Given the description of an element on the screen output the (x, y) to click on. 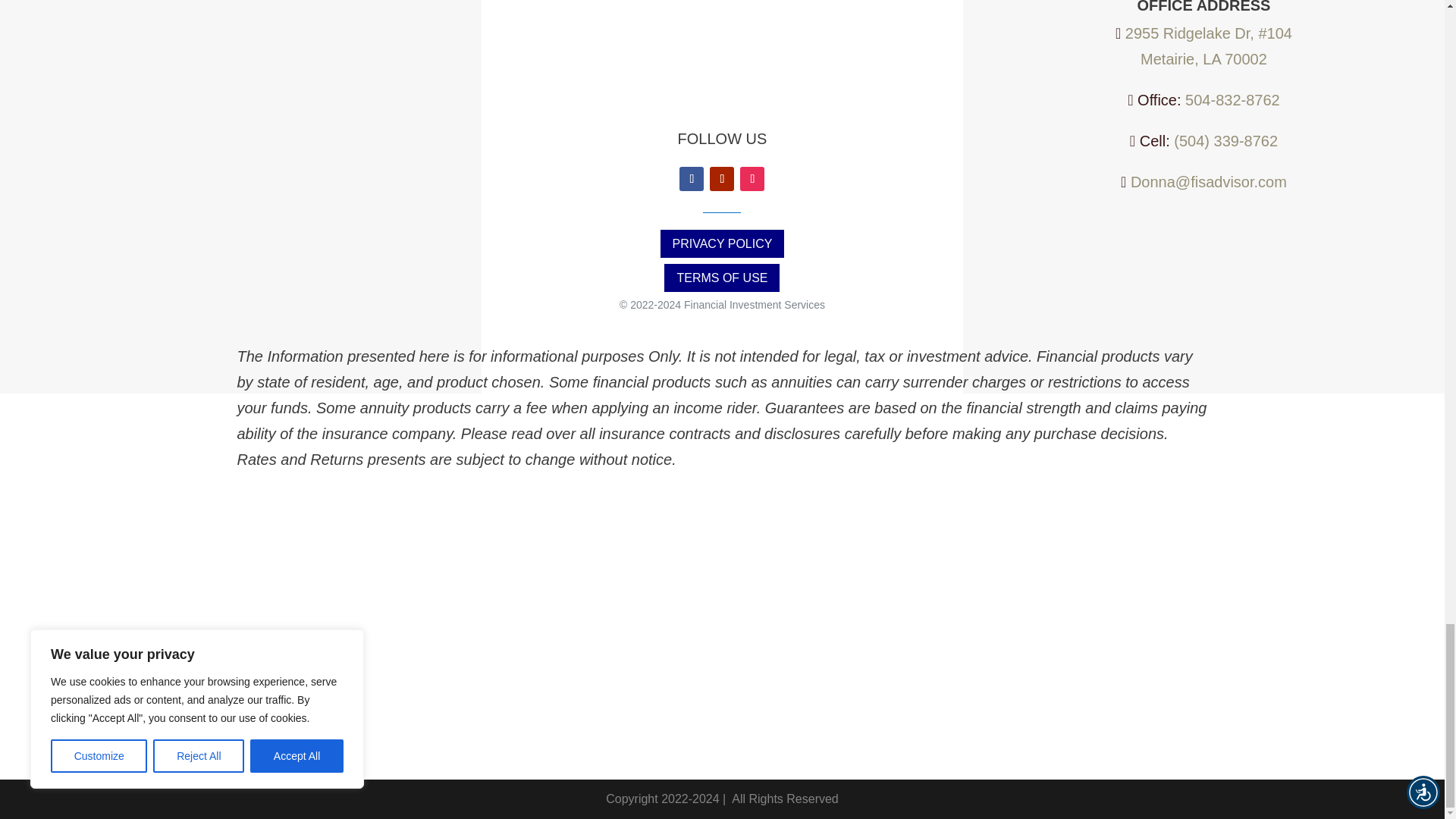
Follow on Youtube (721, 178)
Follow on Instagram (751, 178)
Follow on Facebook (691, 178)
